Given the description of an element on the screen output the (x, y) to click on. 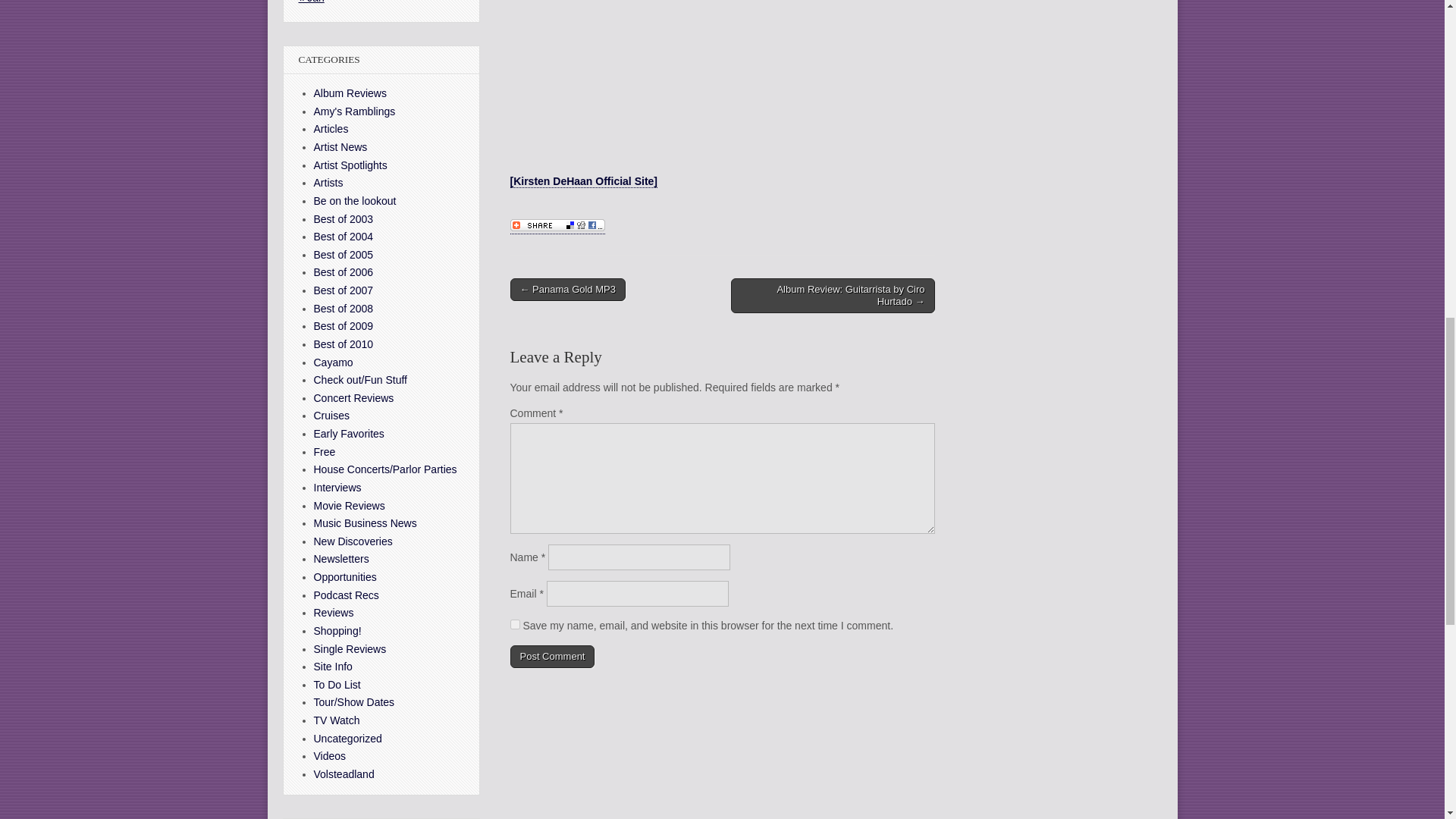
Artist News (341, 146)
Albums that Collected Sounds Reviews. (350, 92)
Artist Spotlights (350, 164)
Be on the lookout (355, 200)
Best of 2005 (344, 254)
Artists (328, 182)
Album Reviews (350, 92)
Best of 2004 (344, 236)
Amy's Ramblings (355, 111)
Post Comment (551, 656)
